Given the description of an element on the screen output the (x, y) to click on. 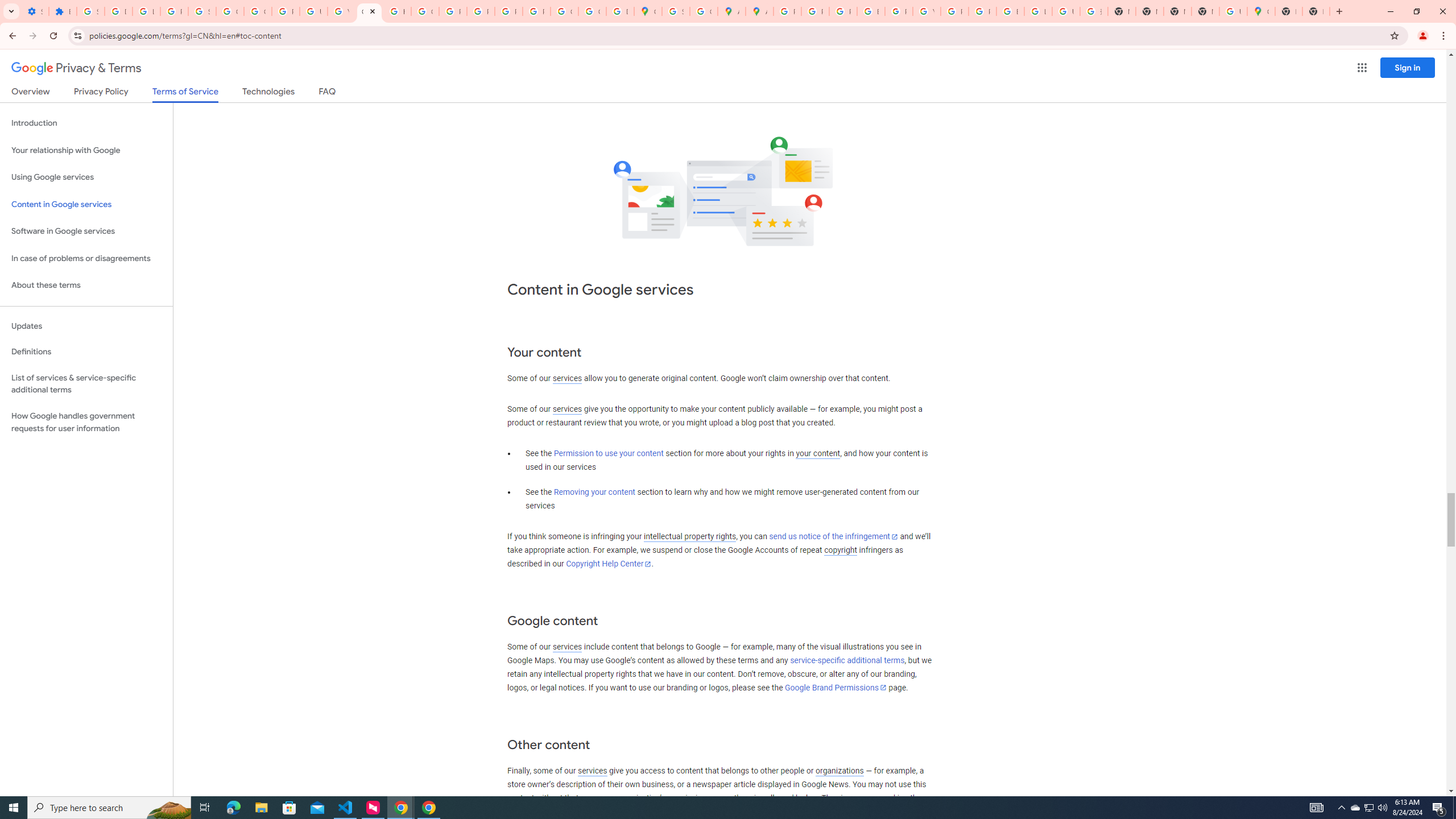
New Tab (1288, 11)
Sign in - Google Accounts (90, 11)
send us notice of the infringement (833, 536)
Removing your content (593, 492)
Use Google Maps in Space - Google Maps Help (1233, 11)
Permission to use your content (608, 453)
copyright (840, 550)
Privacy Help Center - Policies Help (815, 11)
